Given the description of an element on the screen output the (x, y) to click on. 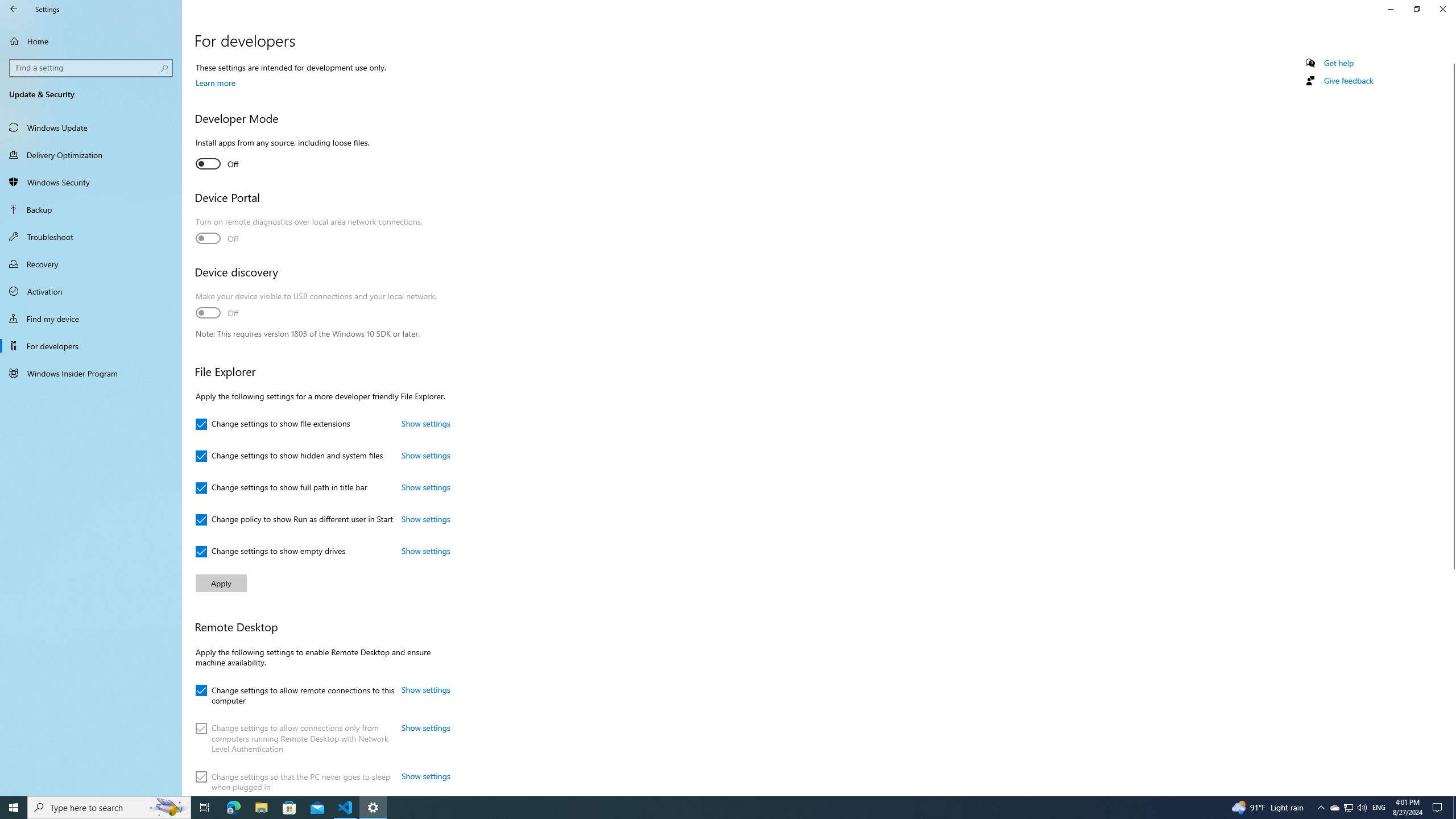
Running applications (706, 807)
Delivery Optimization (91, 154)
Troubleshoot (91, 236)
Change settings to show empty drives (270, 551)
SystemSettings_Developer_Mode_Advanced_NarratorText (216, 163)
Minimize Settings (1390, 9)
Search box, Find a setting (91, 67)
